Given the description of an element on the screen output the (x, y) to click on. 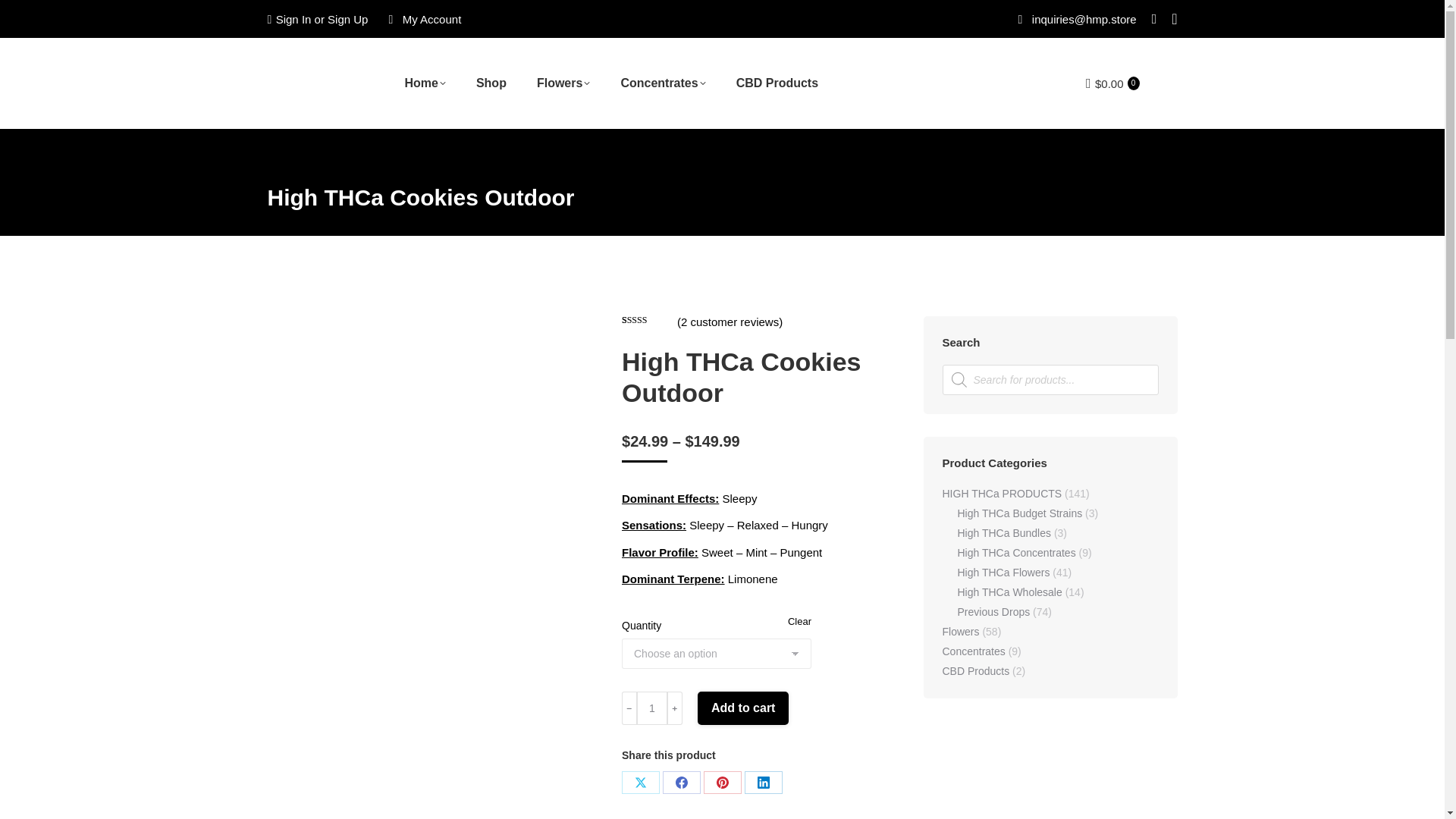
Pinterest (722, 782)
Sign In or Sign Up (317, 18)
X (640, 782)
CBD Products (777, 83)
Flowers (563, 83)
Concentrates (662, 83)
My Account (421, 18)
1 (651, 707)
Home (424, 83)
Shop (491, 83)
Facebook (681, 782)
LinkedIn (763, 782)
